Given the description of an element on the screen output the (x, y) to click on. 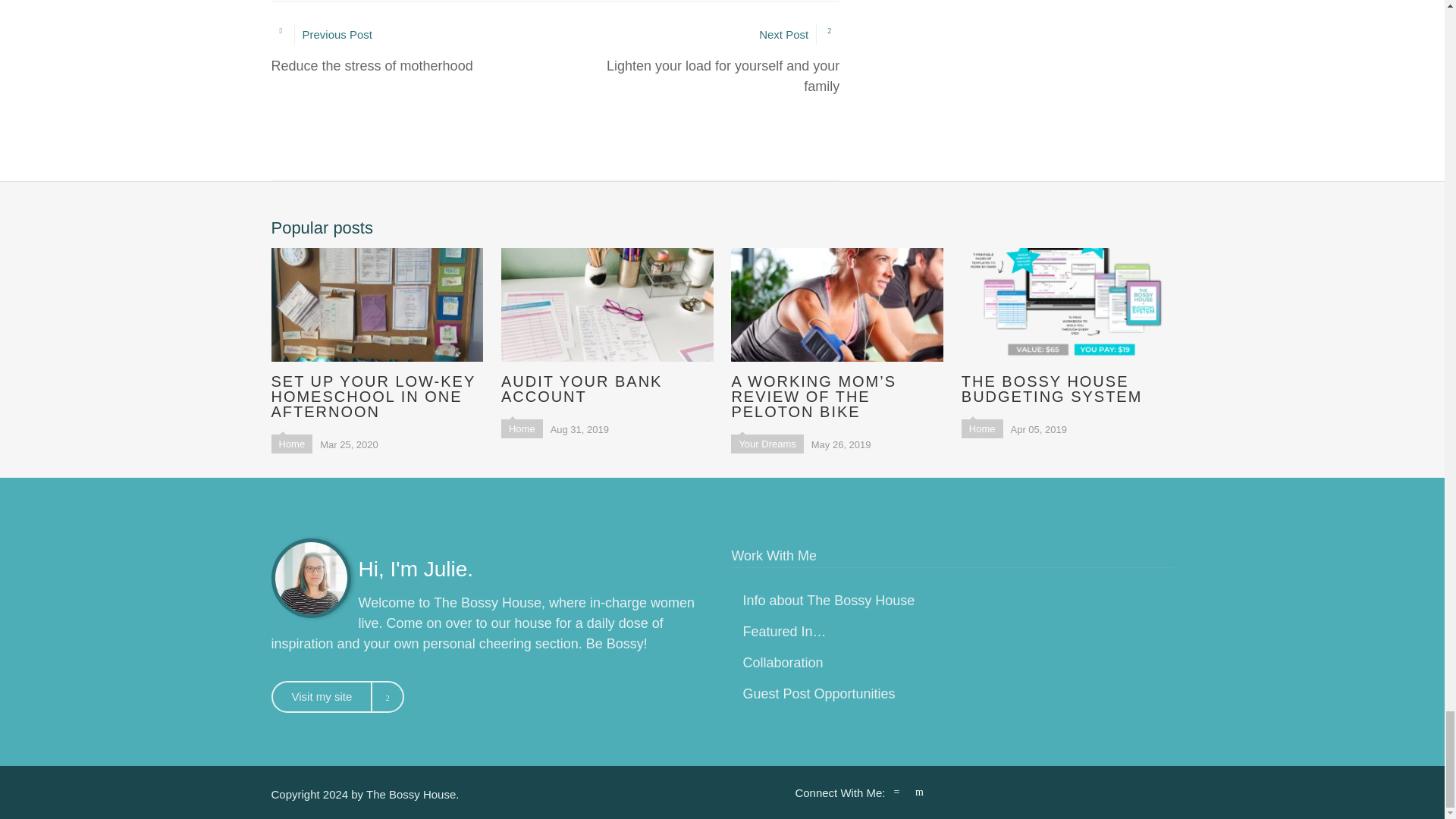
AUDIT YOUR BANK ACCOUNT (606, 326)
Collaboration (697, 60)
THE BOSSY HOUSE BUDGETING SYSTEM (782, 662)
Your Dreams (1066, 326)
Info about The Bossy House (766, 443)
Home (828, 600)
Guest Post Opportunities (521, 428)
Home (818, 693)
Home (981, 428)
Visit my site (291, 443)
SET UP YOUR LOW-KEY HOMESCHOOL IN ONE AFTERNOON (337, 696)
